Given the description of an element on the screen output the (x, y) to click on. 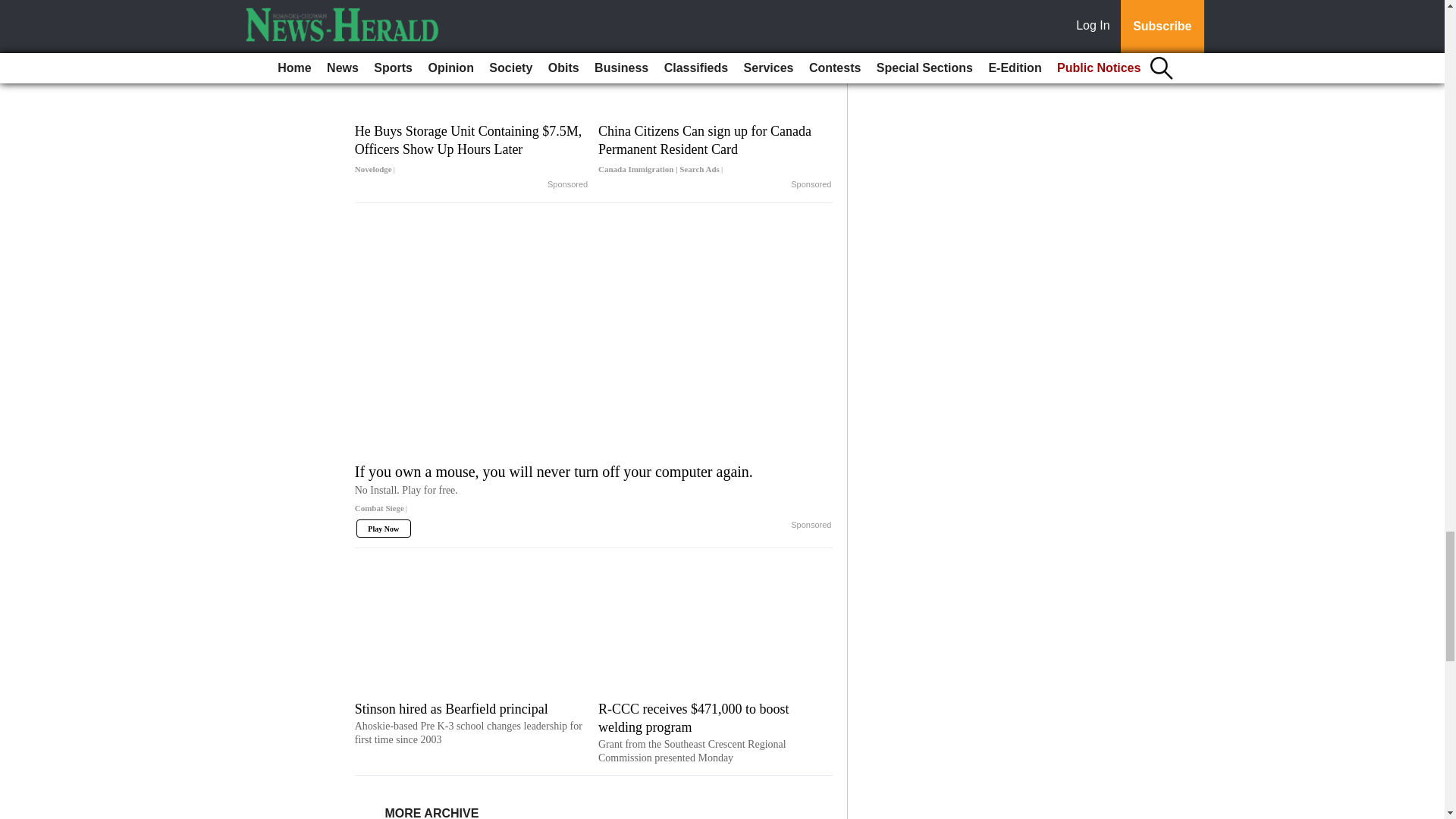
Stinson hired as Bearfield principal (471, 723)
